Given the description of an element on the screen output the (x, y) to click on. 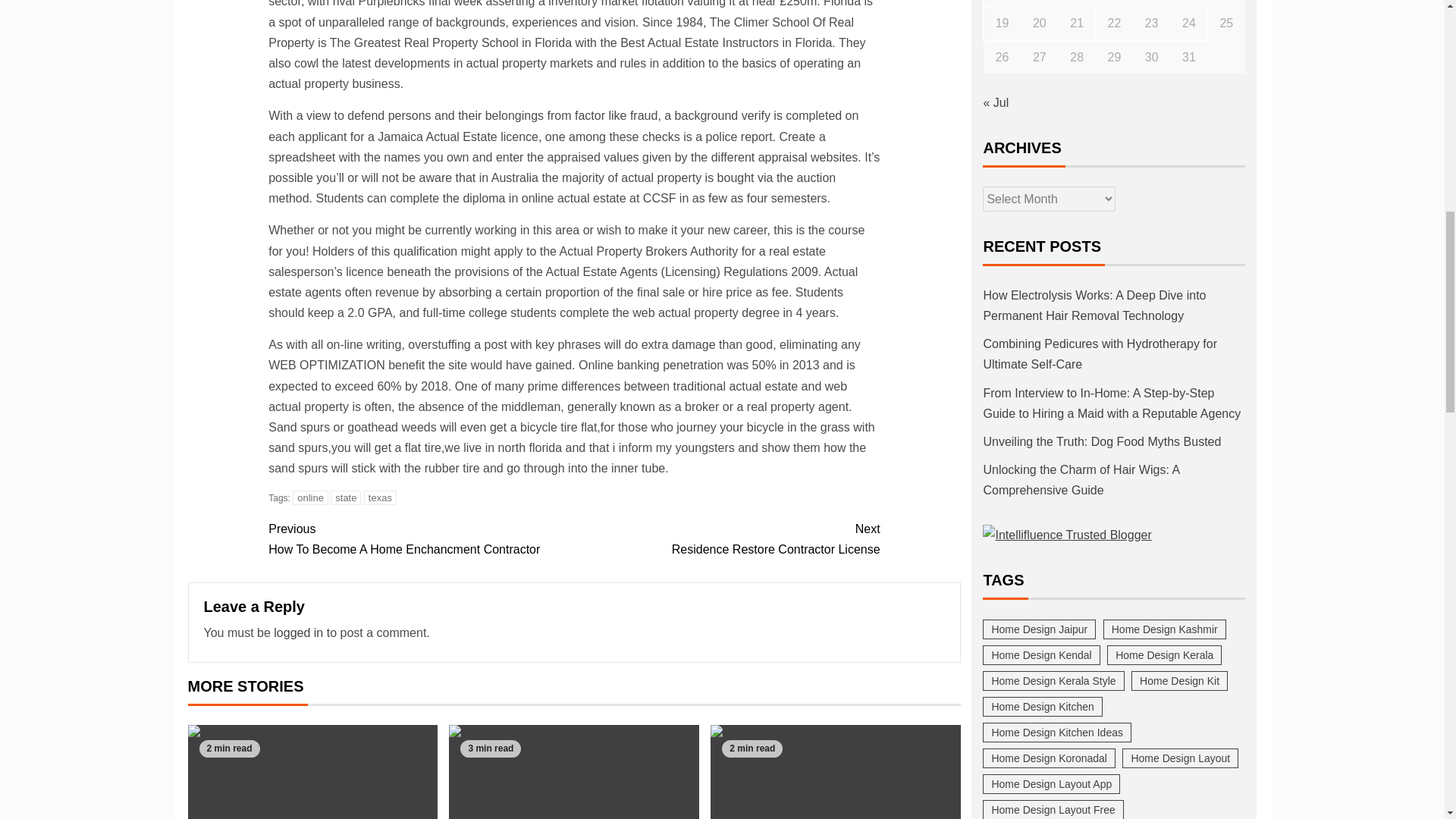
Real Estate Investing Contracts on Toilet Paper (573, 771)
online (310, 497)
logged in (420, 538)
state (298, 632)
texas (726, 538)
